Given the description of an element on the screen output the (x, y) to click on. 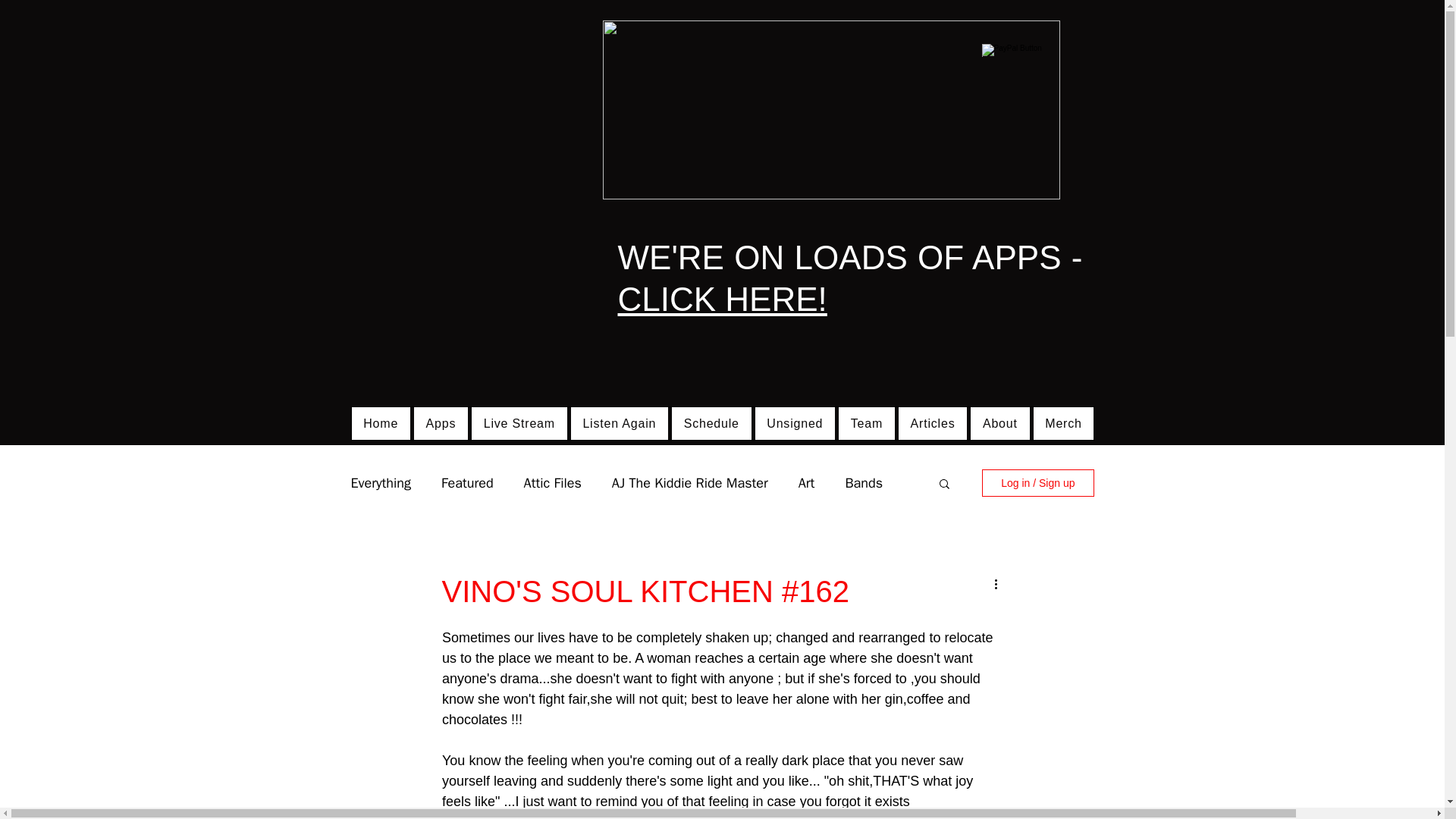
Team (866, 423)
Articles (932, 423)
AJ The Kiddie Ride Master (689, 483)
Merch (1063, 423)
Everything (380, 483)
Art (806, 483)
Unsigned (795, 423)
Bands (863, 483)
Schedule (711, 423)
Listen Again (619, 423)
Home (381, 423)
CLICK HERE! (722, 298)
About (1000, 423)
Attic Files (552, 483)
